Given the description of an element on the screen output the (x, y) to click on. 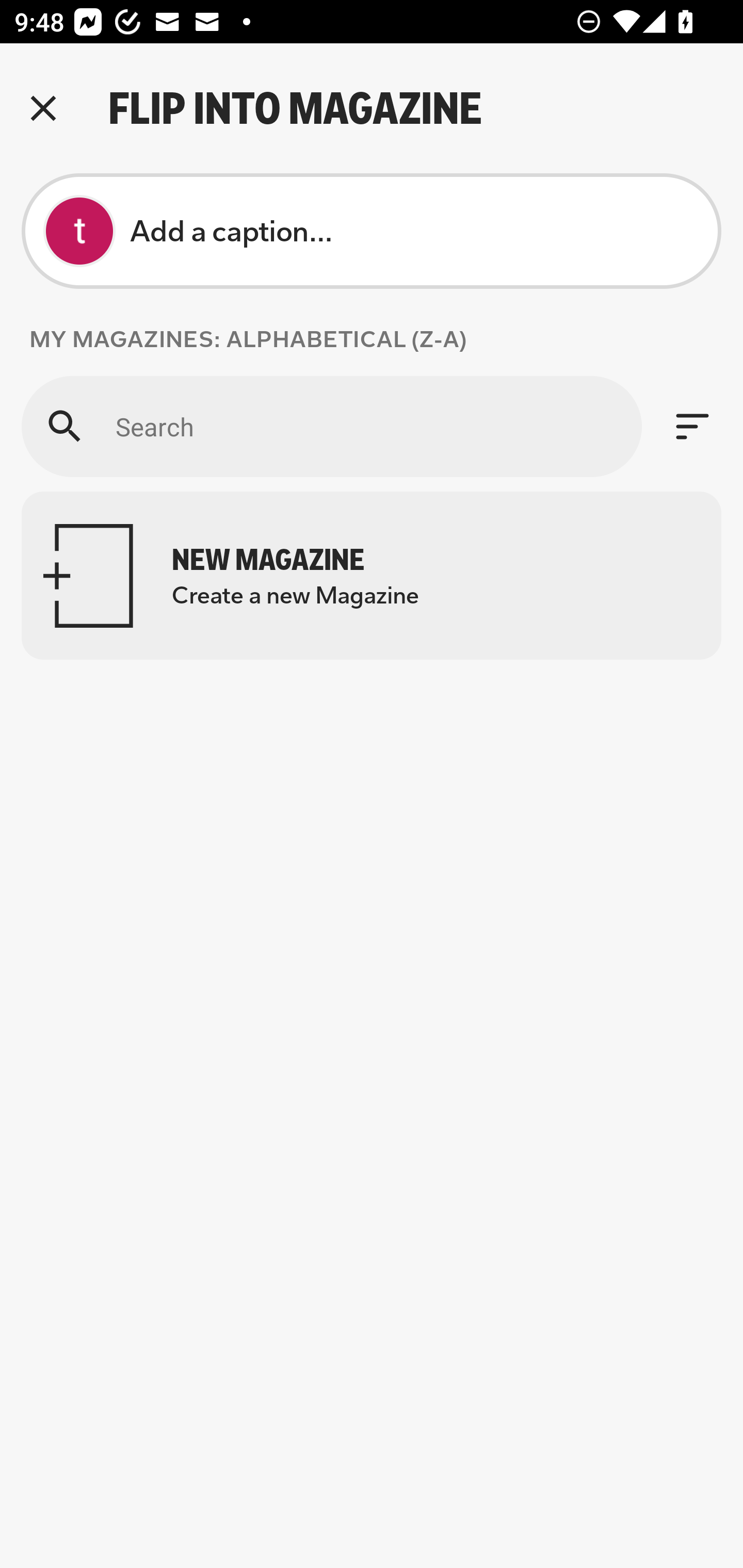
test appium Add a caption… (371, 231)
Search (331, 426)
NEW MAGAZINE Create a new Magazine (371, 575)
